Given the description of an element on the screen output the (x, y) to click on. 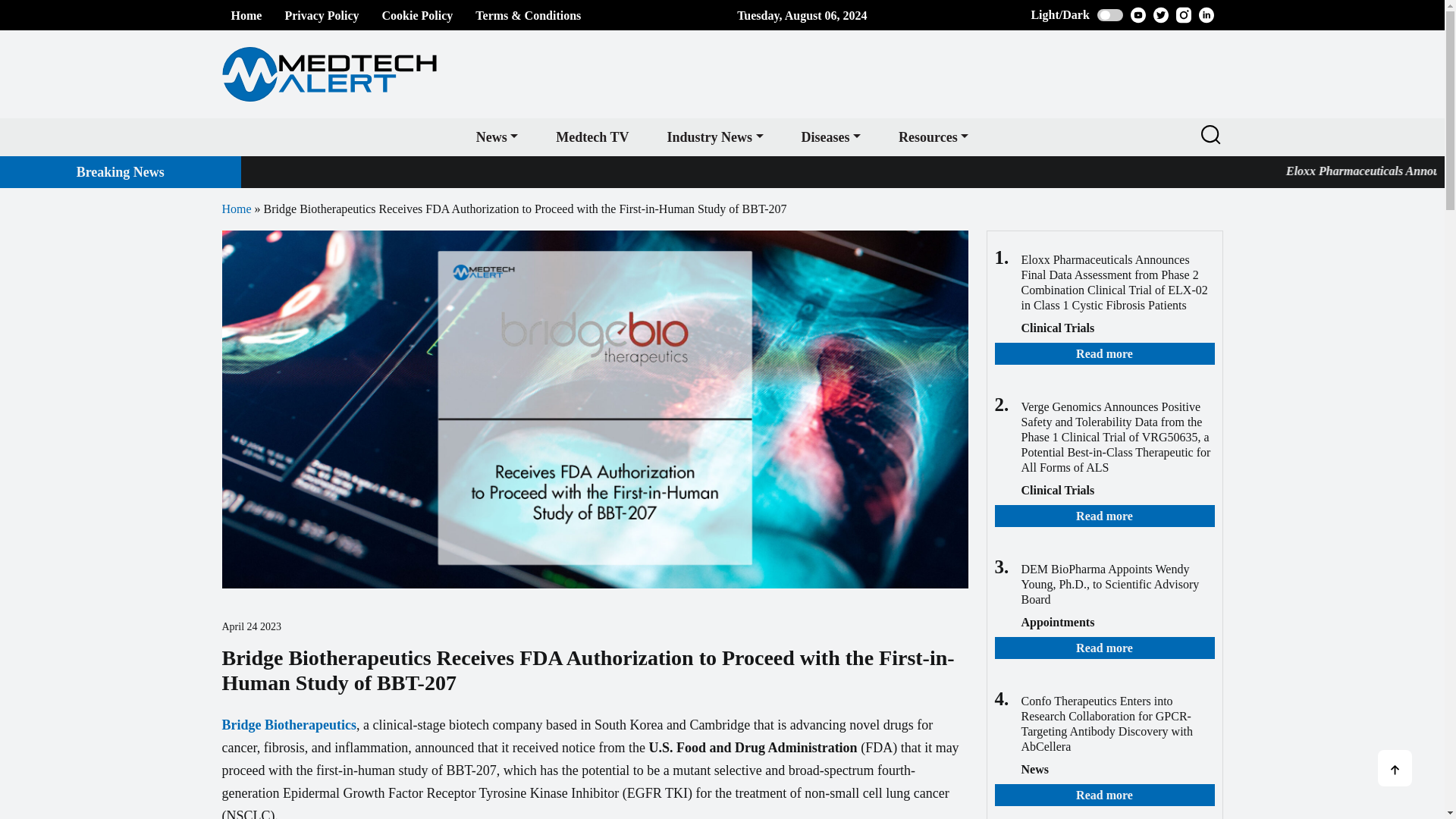
Diseases (831, 136)
Privacy Policy (320, 15)
Resources (933, 136)
Home (246, 15)
Industry News (714, 136)
Cookie Policy (416, 15)
News (497, 136)
Medtech TV (592, 136)
